Given the description of an element on the screen output the (x, y) to click on. 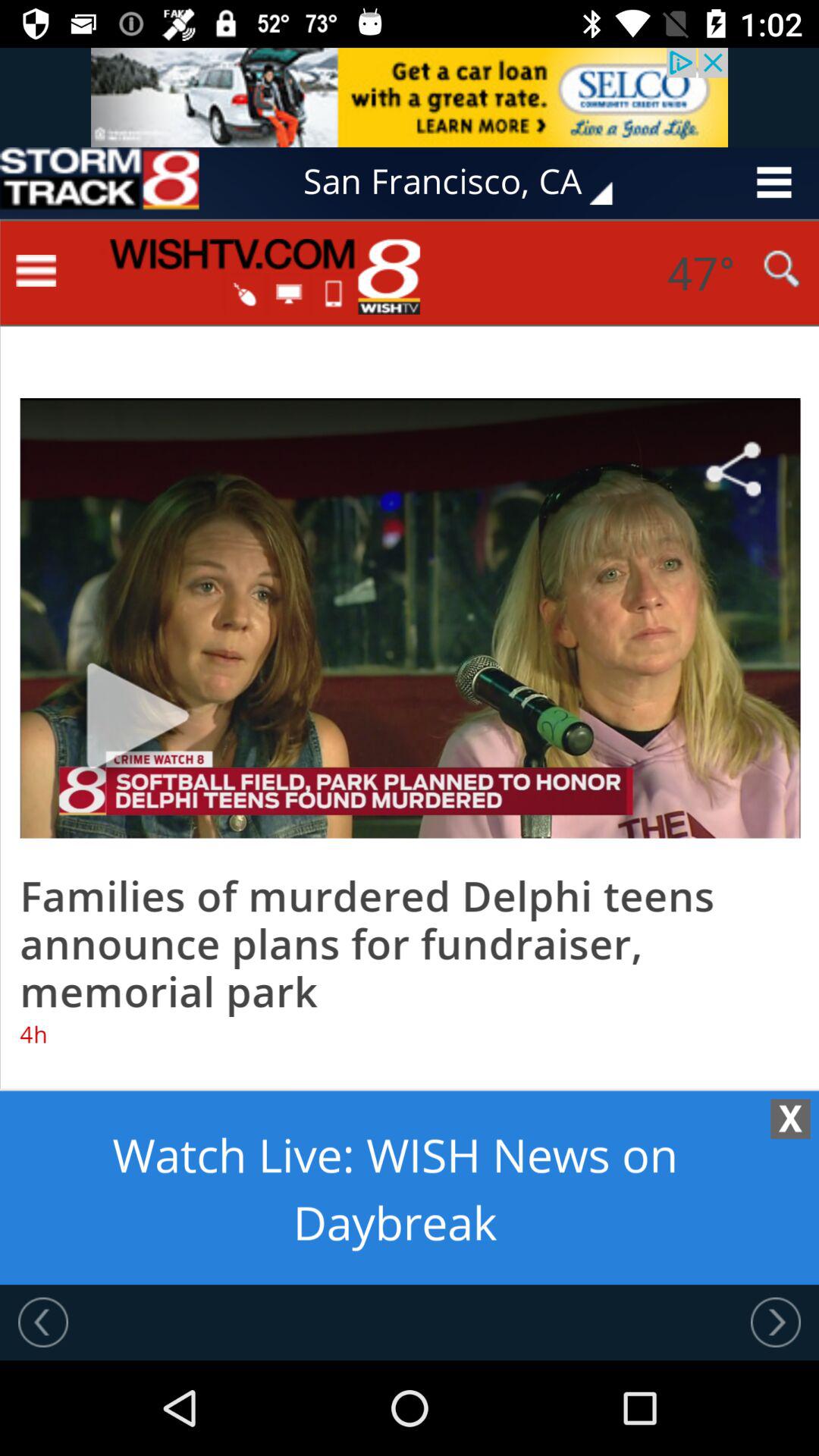
screen (409, 751)
